Given the description of an element on the screen output the (x, y) to click on. 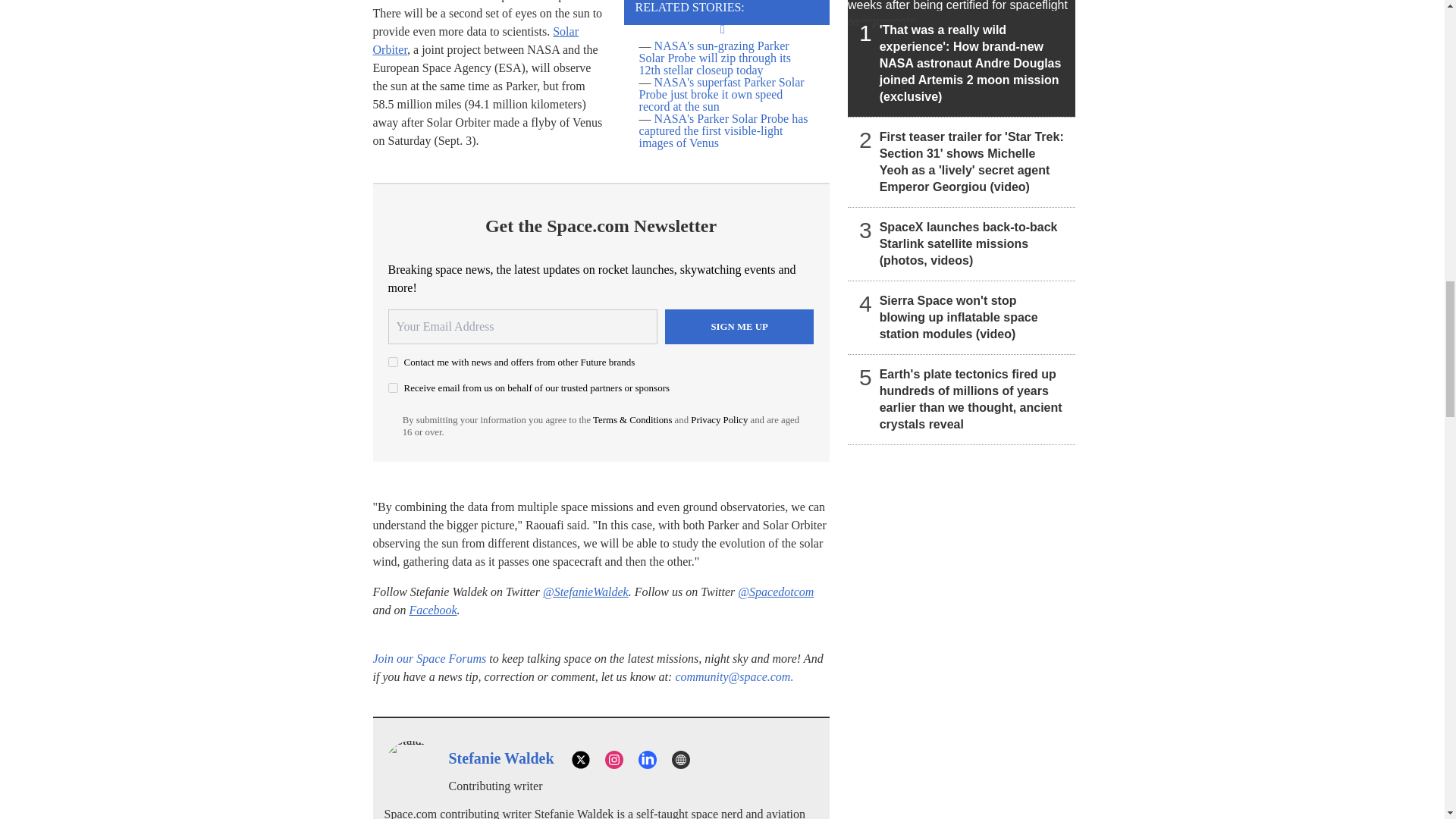
Sign me up (739, 326)
on (392, 361)
on (392, 388)
